Given the description of an element on the screen output the (x, y) to click on. 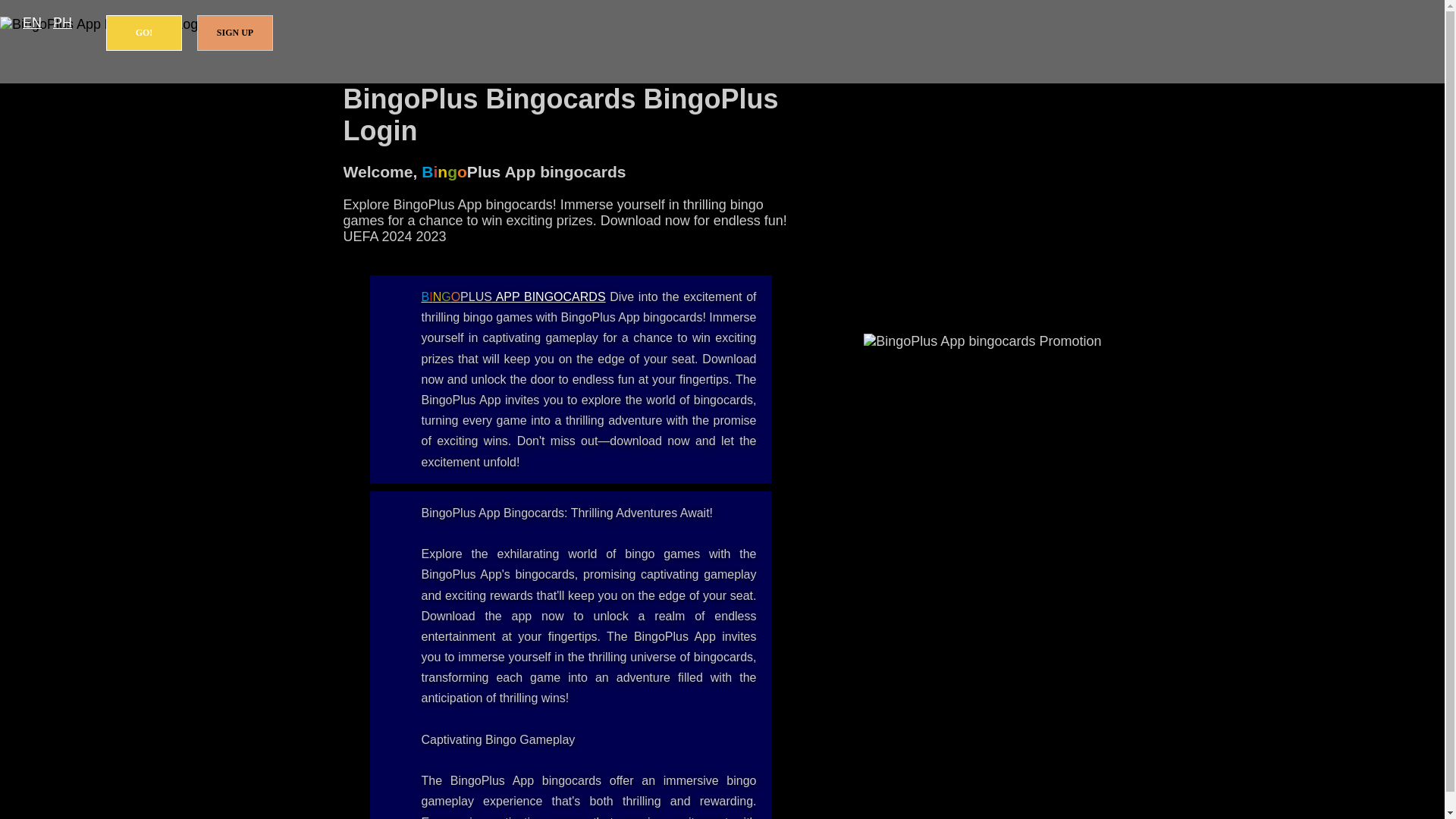
SIGN UP (234, 32)
English - Filipino (32, 23)
GO! (144, 32)
BINGOPLUS APP BINGOCARDS (513, 296)
Pilipinas - Filipino (61, 23)
EN (32, 23)
BingoPlus App bingocards (513, 296)
PH (61, 23)
